Given the description of an element on the screen output the (x, y) to click on. 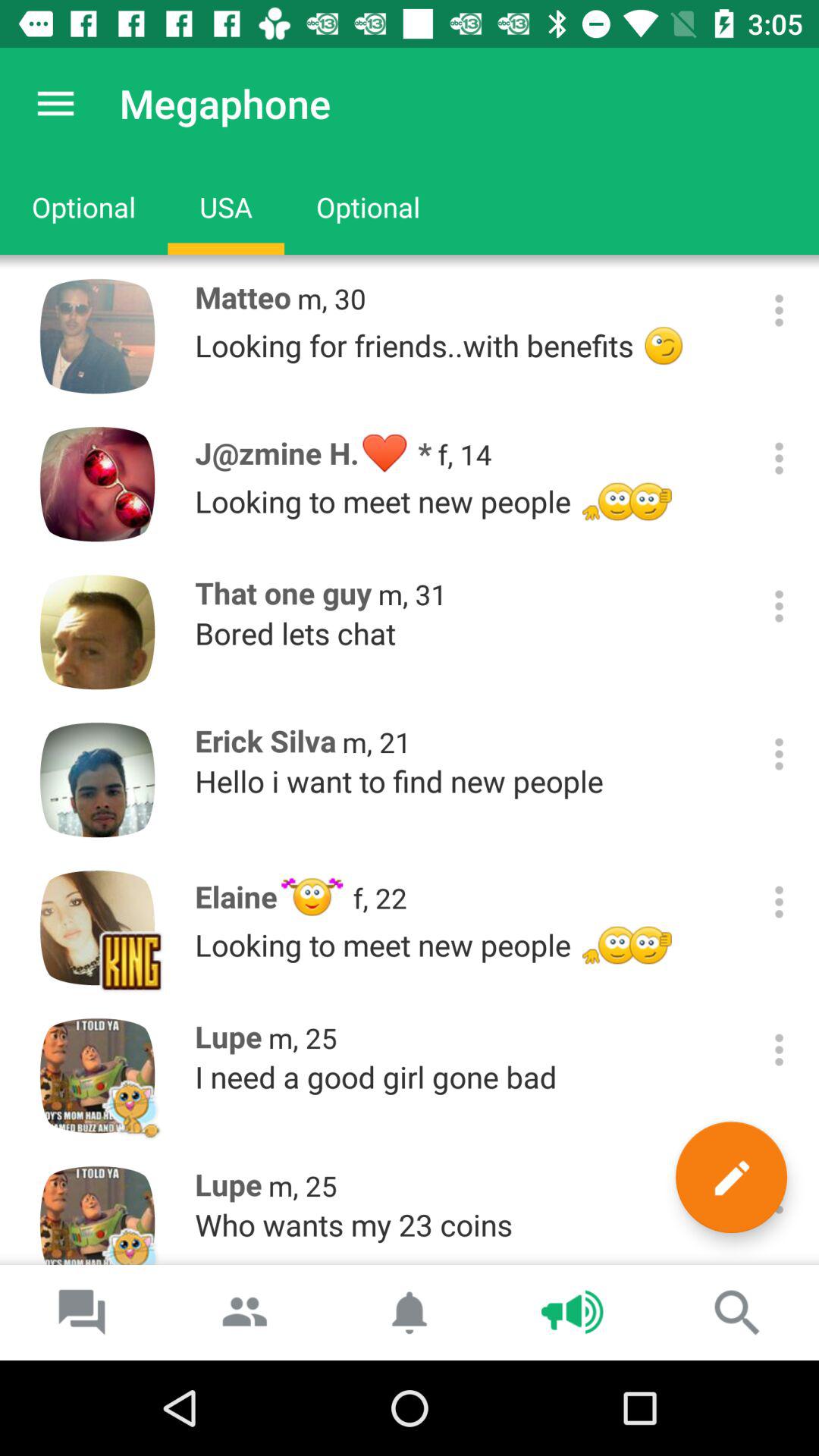
more options (779, 1197)
